Given the description of an element on the screen output the (x, y) to click on. 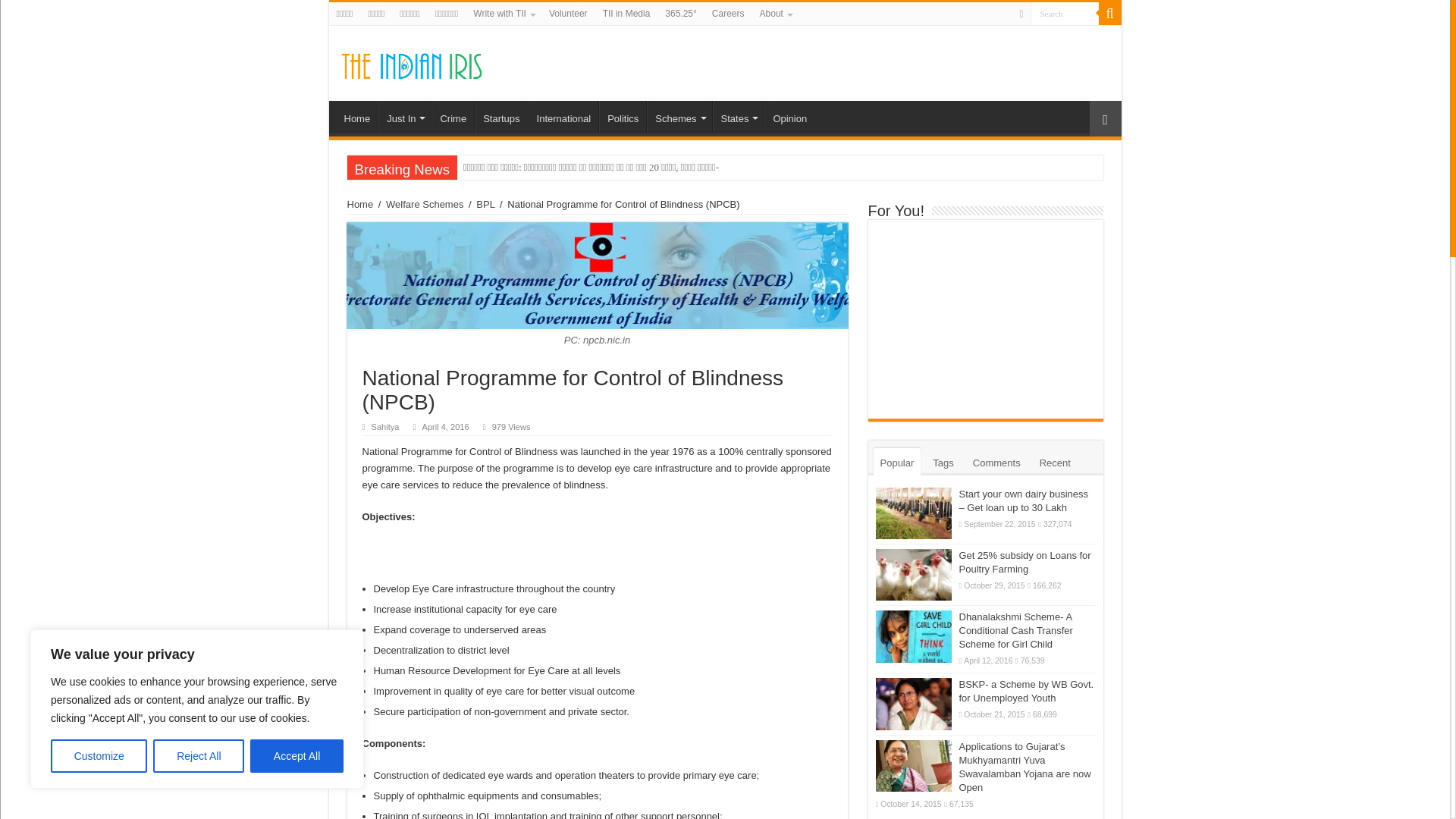
The Indian Iris (411, 63)
Customize (98, 756)
Search (1063, 13)
Search (1063, 13)
Reject All (198, 756)
Accept All (296, 756)
